Given the description of an element on the screen output the (x, y) to click on. 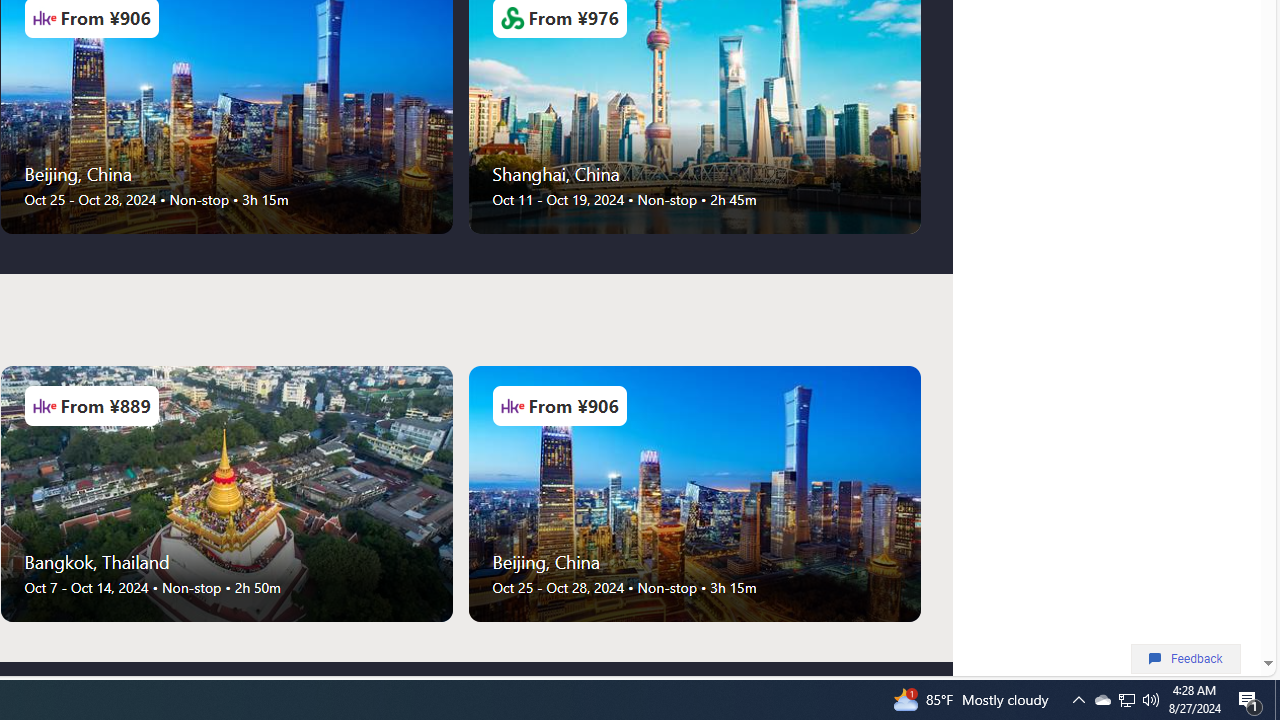
Airlines Logo (512, 405)
Click to scroll right (920, 493)
